Given the description of an element on the screen output the (x, y) to click on. 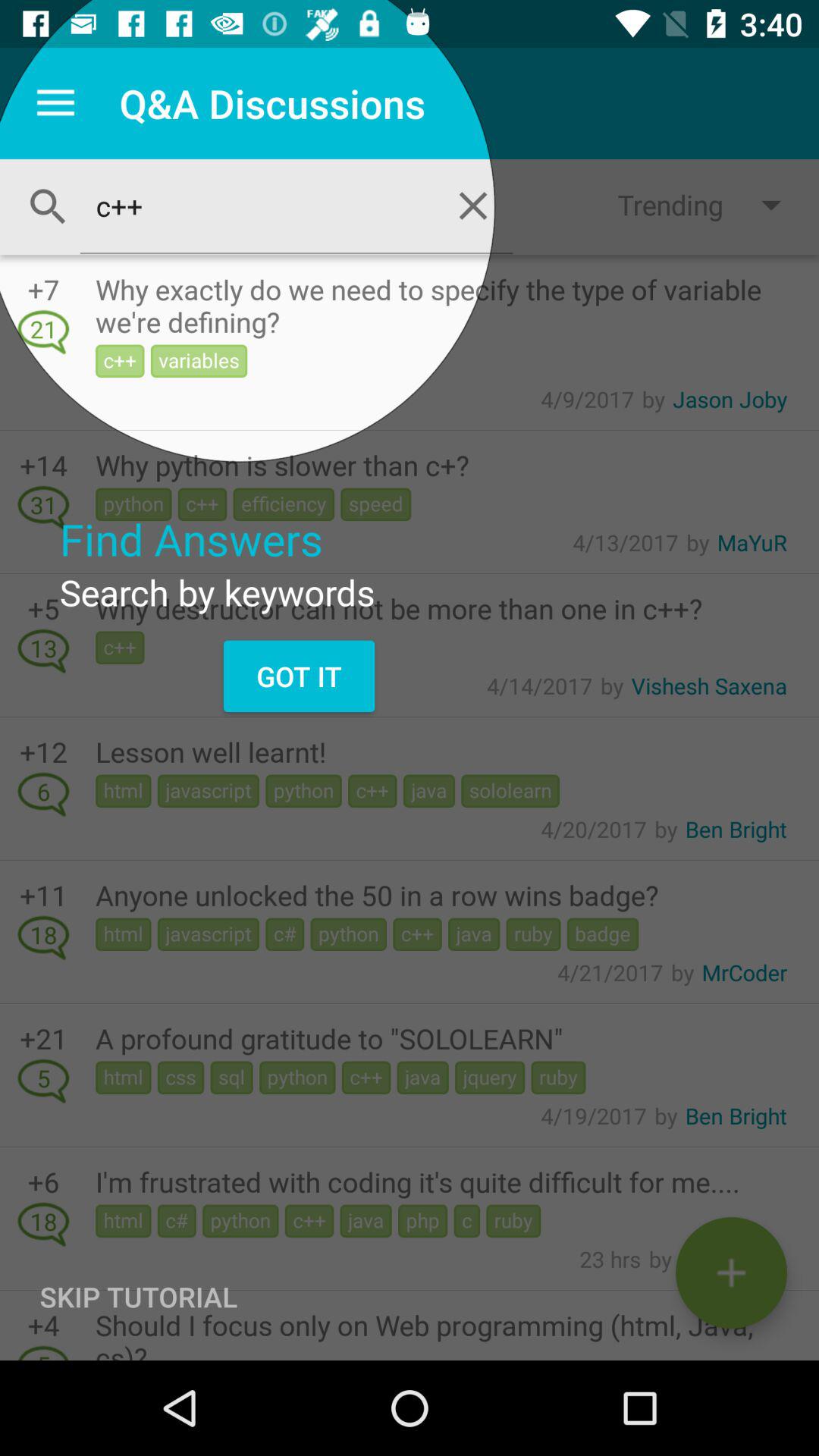
new discussion (731, 1272)
